Given the description of an element on the screen output the (x, y) to click on. 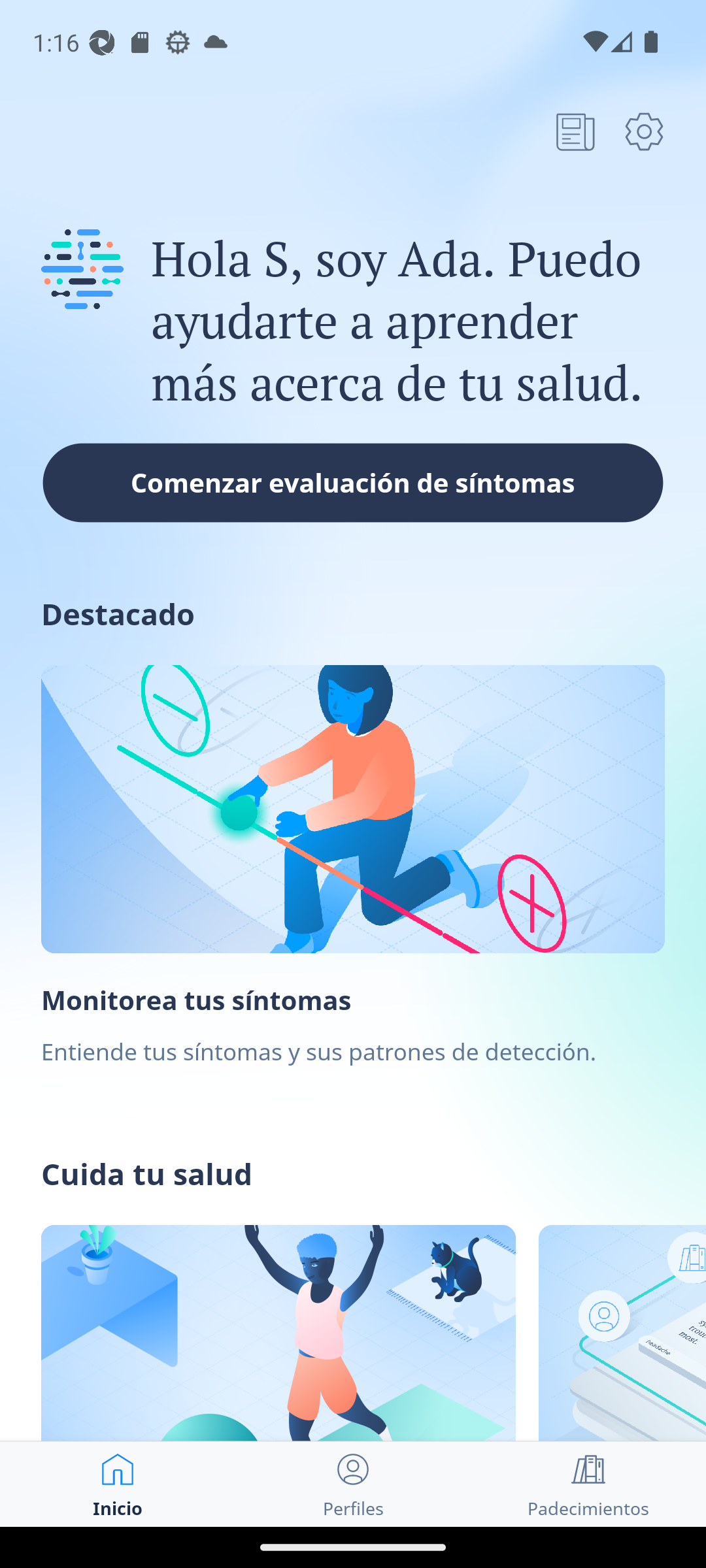
article icon , open articles (574, 131)
settings icon, open settings (644, 131)
Comenzar evaluación de síntomas (352, 482)
Inicio (117, 1484)
Perfiles (352, 1484)
Padecimientos (588, 1484)
